Given the description of an element on the screen output the (x, y) to click on. 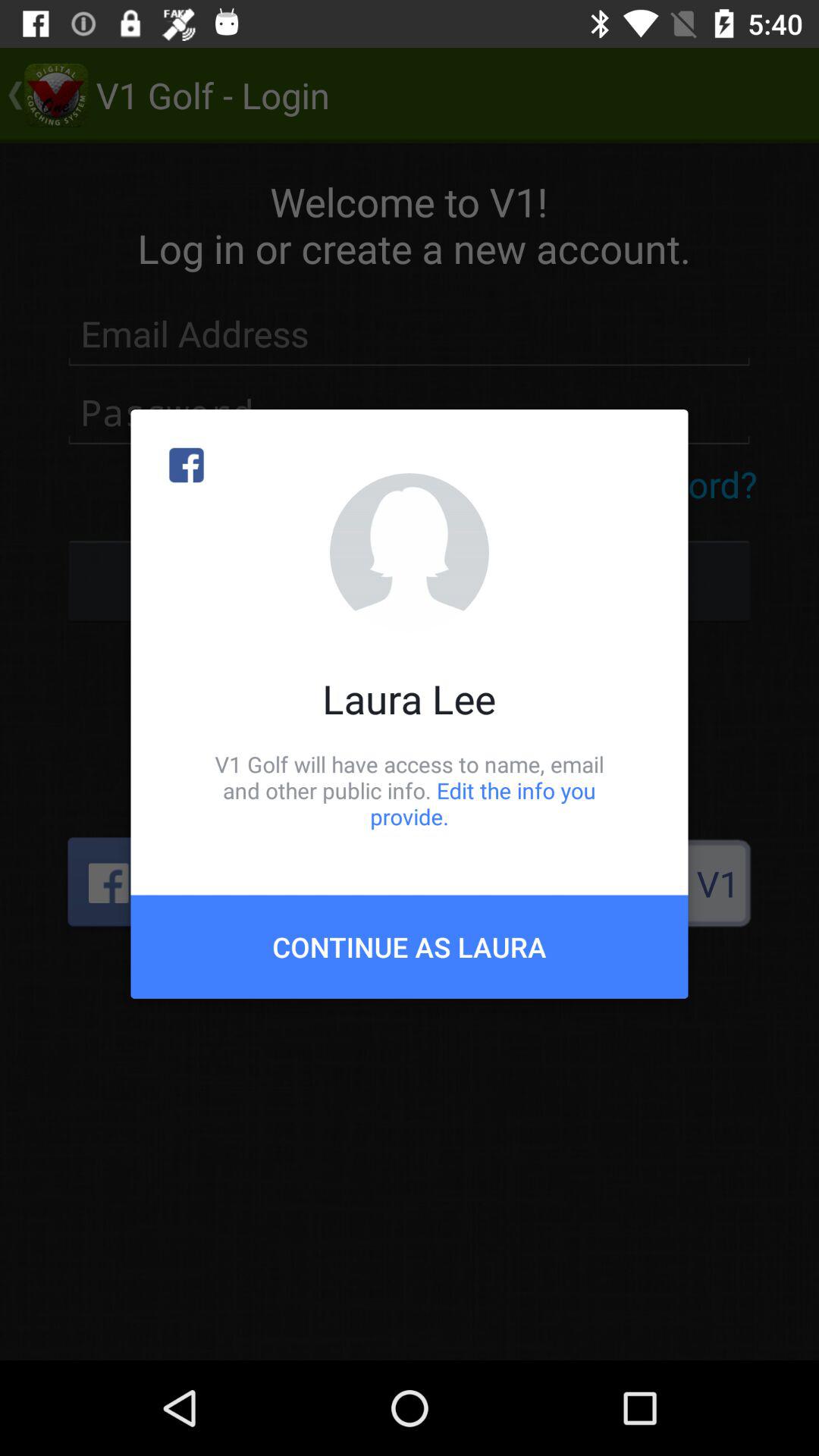
open icon above continue as laura (409, 790)
